Given the description of an element on the screen output the (x, y) to click on. 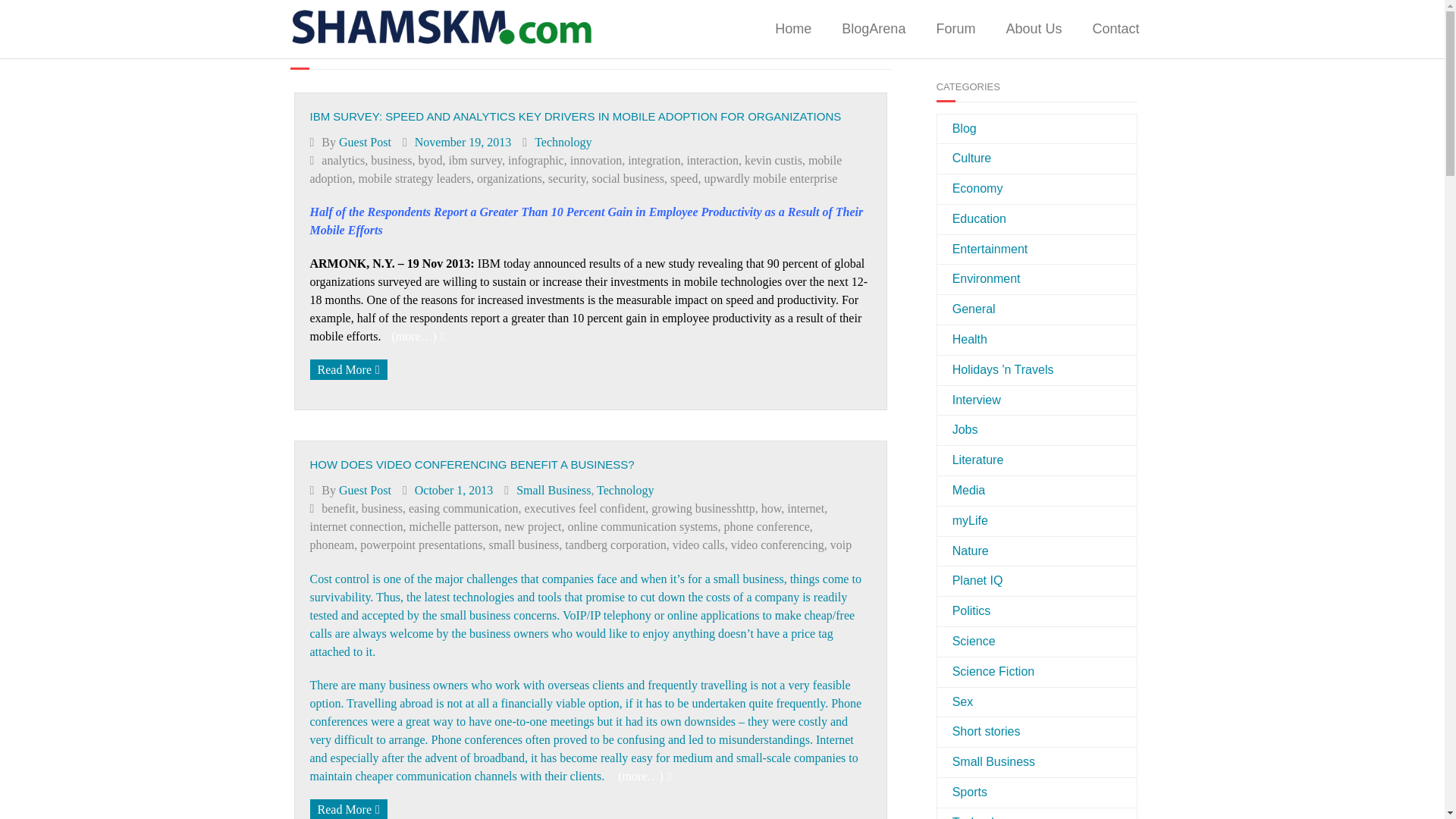
Search (1107, 36)
Guest Post (365, 141)
Search (1107, 36)
social business (627, 178)
kevin custis (773, 160)
Contact (1115, 29)
upwardly mobile enterprise (770, 178)
byod (429, 160)
Guest Post (365, 490)
